Given the description of an element on the screen output the (x, y) to click on. 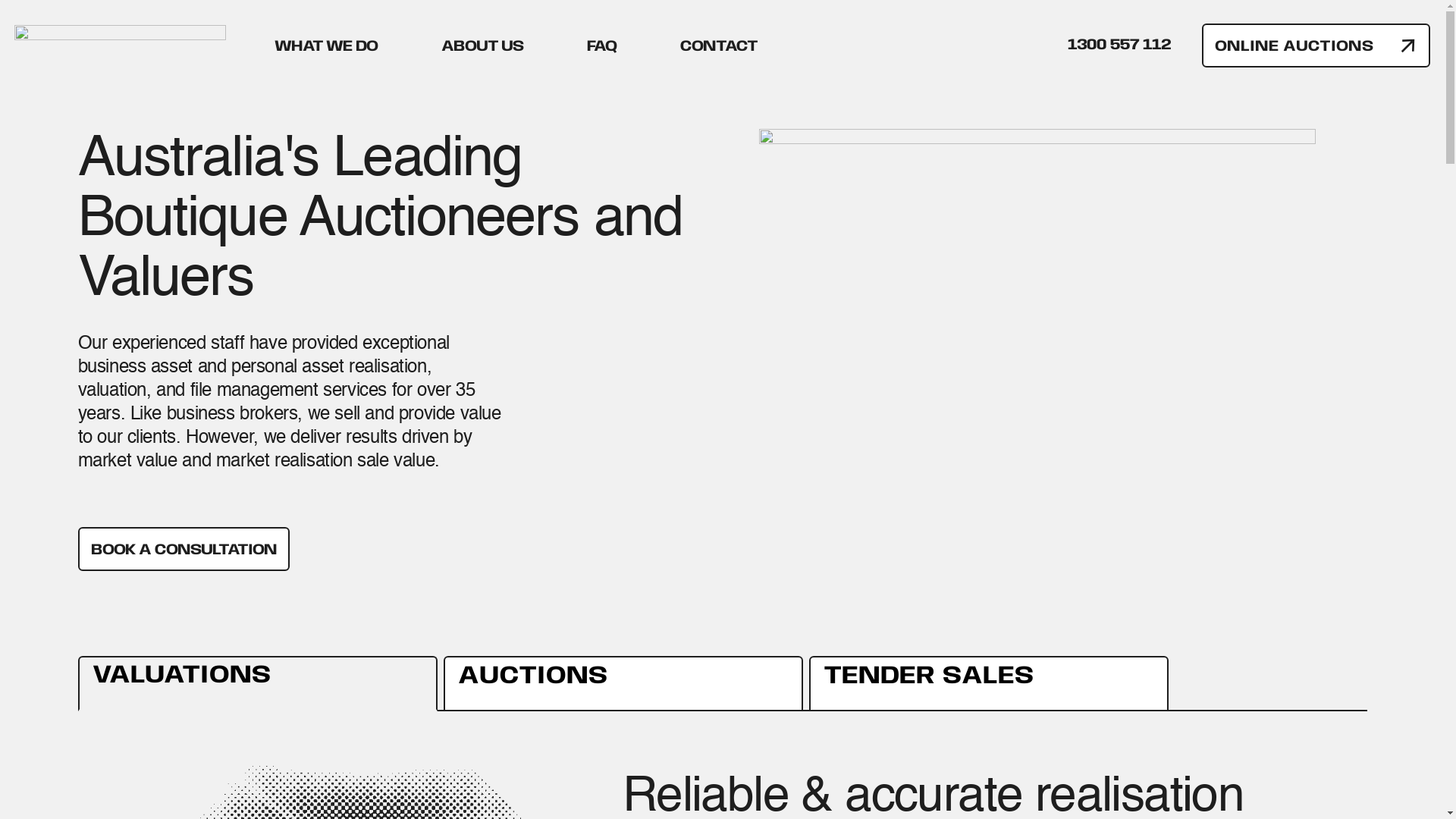
ONLINE AUCTIONS Element type: text (1315, 45)
1300 557 112 Element type: text (1118, 43)
AUCTIONS Element type: text (622, 683)
BOOK A CONSULTATION Element type: text (182, 549)
WHAT WE DO Element type: text (325, 45)
CONTACT Element type: text (718, 45)
TENDER SALES Element type: text (987, 683)
FAQ Element type: text (601, 45)
ABOUT US Element type: text (482, 45)
VALUATIONS Element type: text (256, 683)
